Given the description of an element on the screen output the (x, y) to click on. 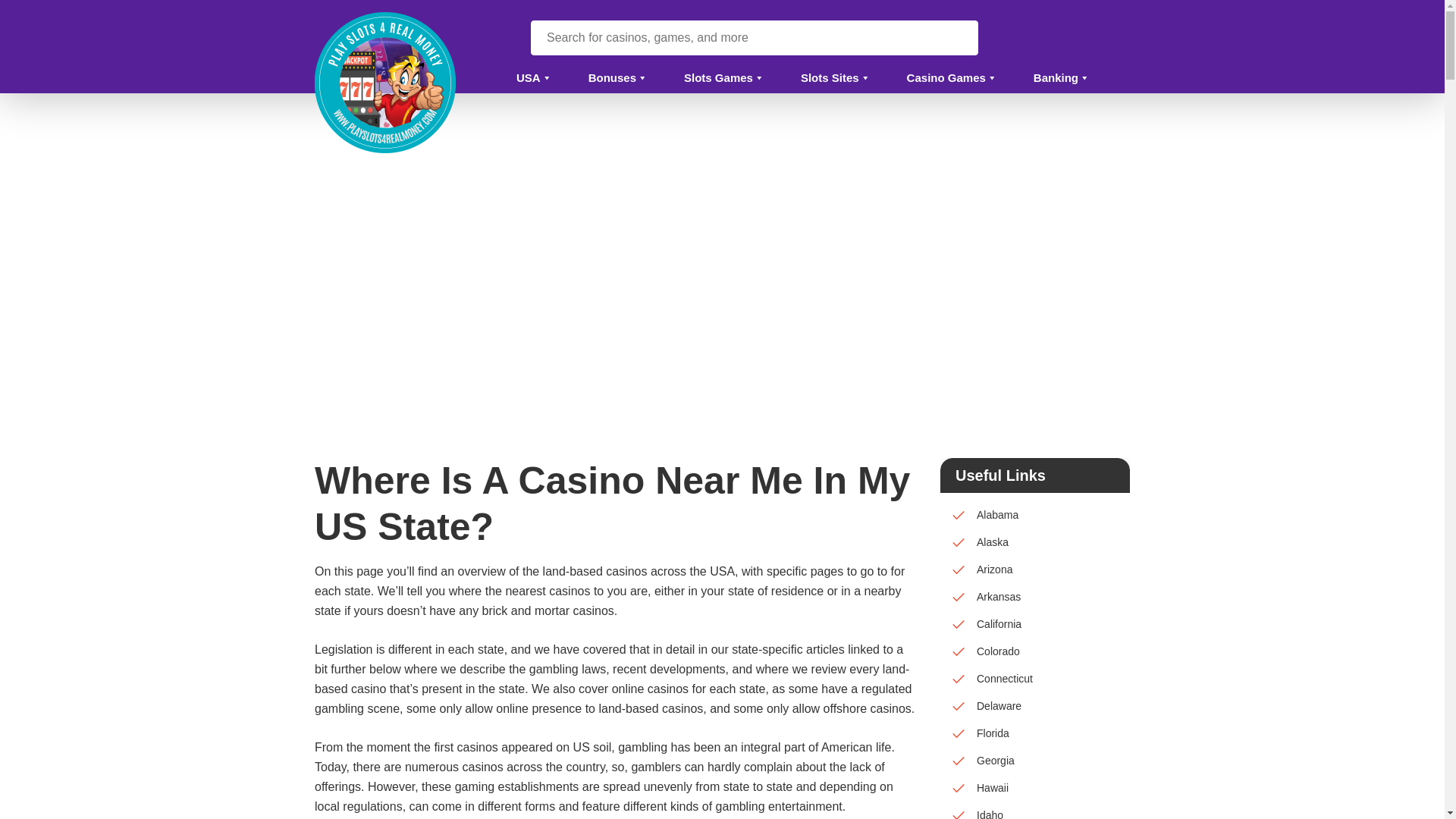
USA (523, 80)
Go to Play Slots 4 Real Money. (380, 367)
Arizona (1035, 569)
Alabama (1035, 514)
Search (959, 38)
Arkansas (1035, 596)
Search (959, 38)
Go to USA Online Casinos. (516, 367)
Alaska (1035, 541)
